Given the description of an element on the screen output the (x, y) to click on. 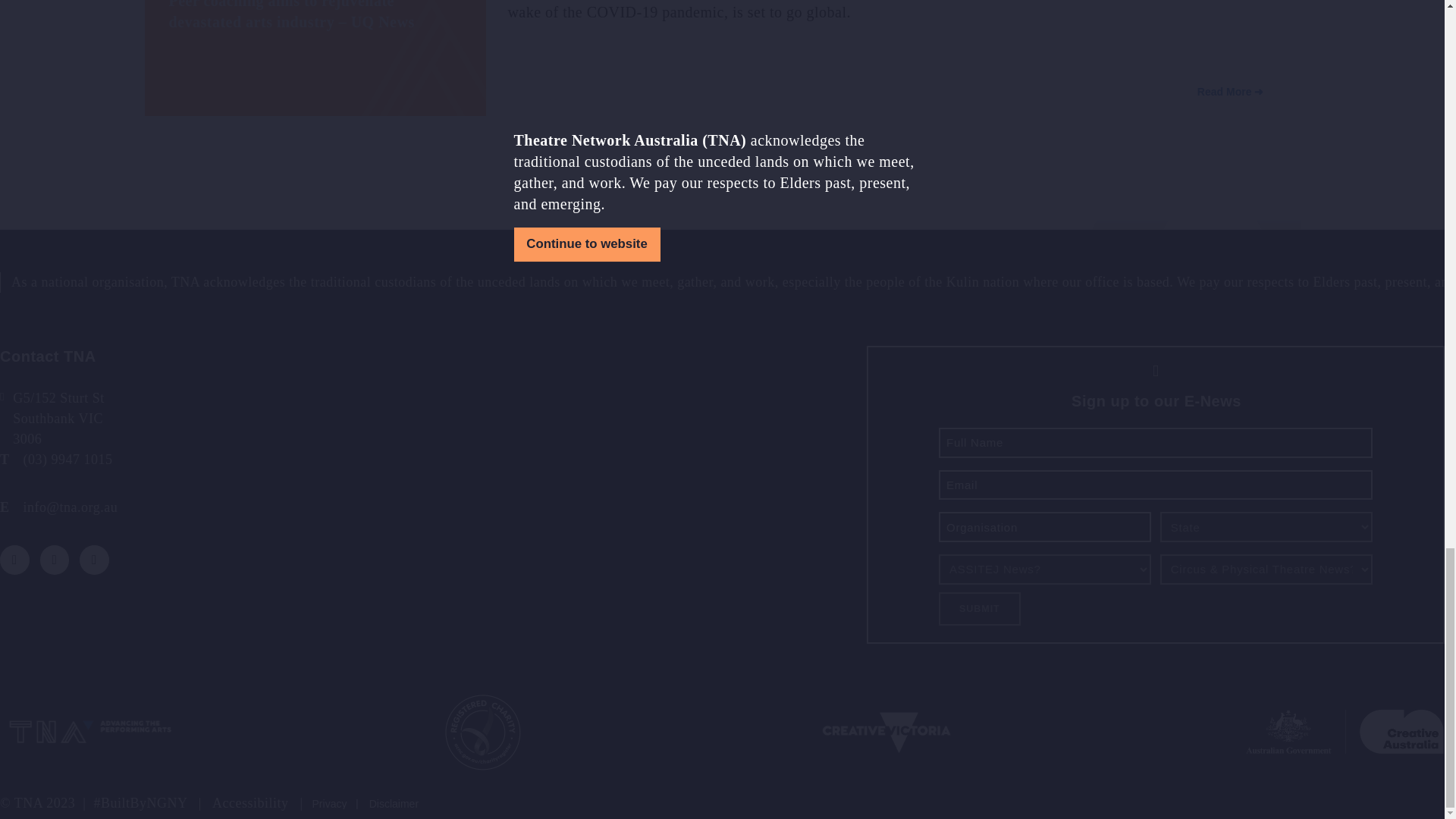
Read More (1230, 92)
Submit (979, 608)
